Given the description of an element on the screen output the (x, y) to click on. 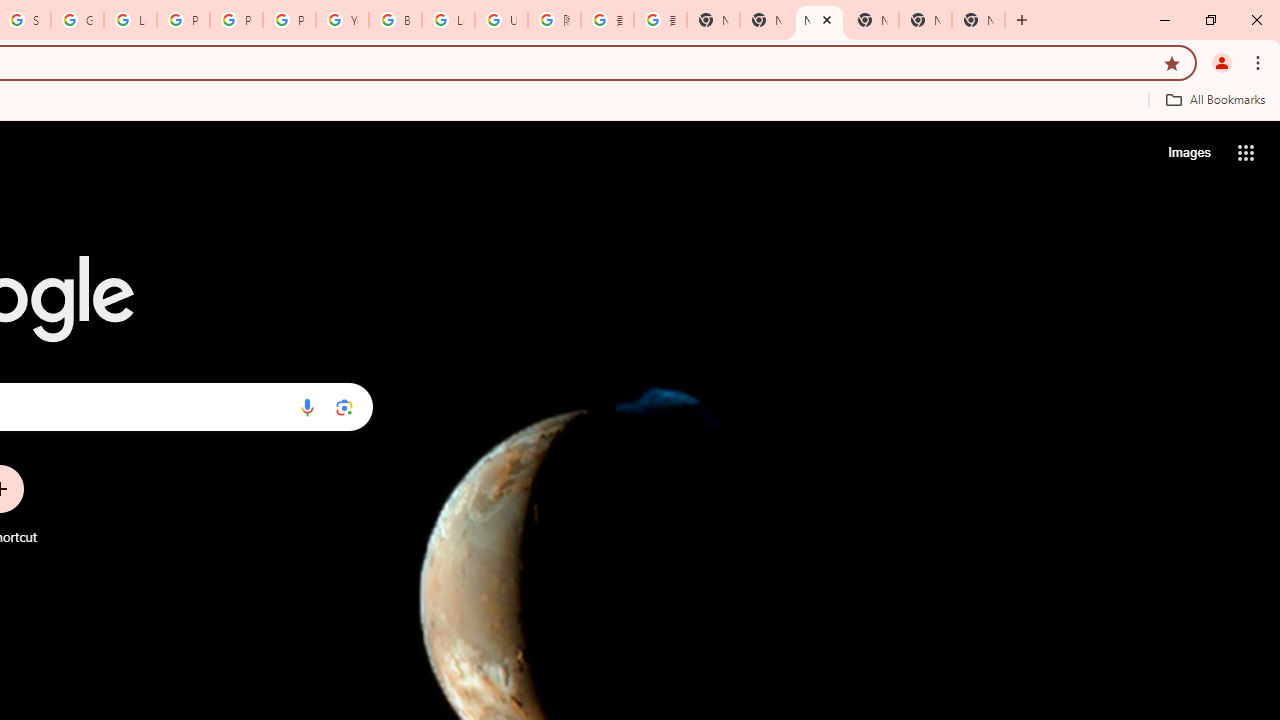
Browse Chrome as a guest - Computer - Google Chrome Help (395, 20)
Search by voice (307, 407)
Search for Images  (1188, 152)
